Given the description of an element on the screen output the (x, y) to click on. 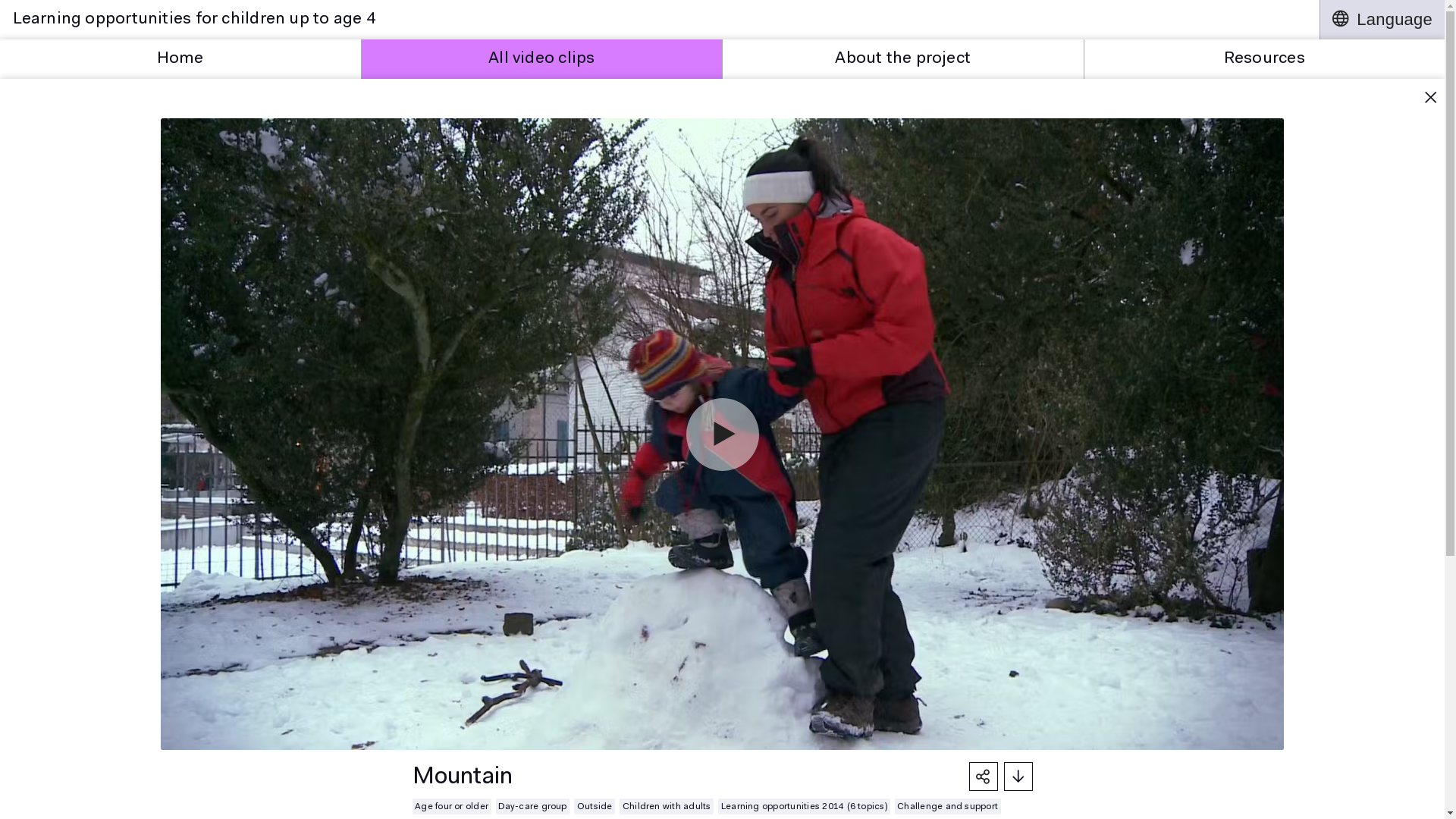
Learning opportunities for children up to age 4 Element type: text (659, 19)
All video clips Element type: text (540, 58)
Home Element type: text (180, 58)
Resources Element type: text (1264, 58)
Language Element type: text (1381, 19)
Day-care group Element type: text (532, 806)
Outside Element type: text (594, 806)
Challenge and support Element type: text (947, 806)
About the project Element type: text (902, 58)
Learning opportunities 2014 (6 topics) Element type: text (803, 806)
Children with adults Element type: text (666, 806)
Age four or older Element type: text (451, 806)
